Given the description of an element on the screen output the (x, y) to click on. 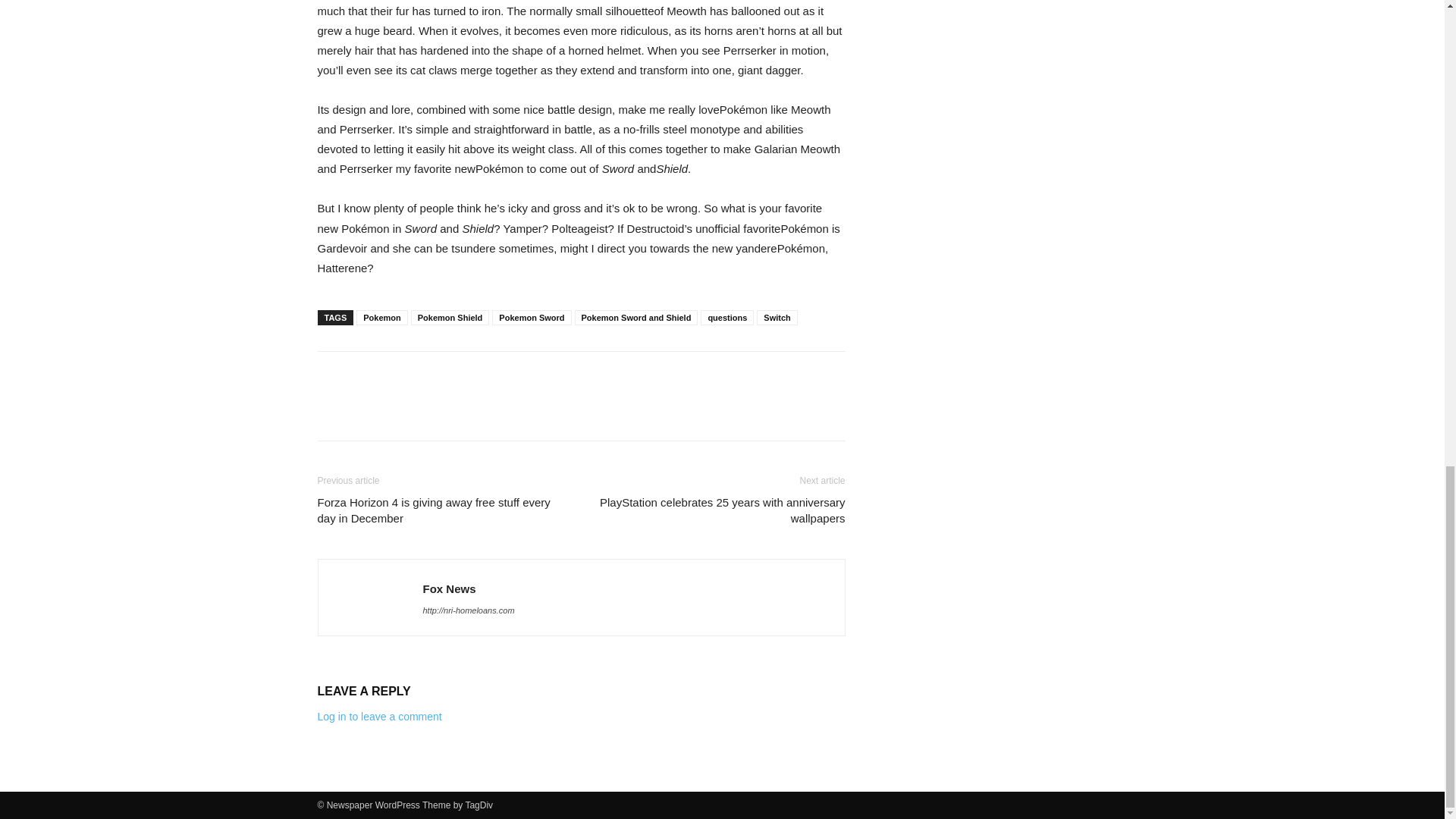
Pokemon Sword and Shield (636, 317)
Pokemon Shield (449, 317)
bottomFacebookLike (430, 375)
Pokemon (381, 317)
Switch (776, 317)
questions (727, 317)
Pokemon Sword (531, 317)
